Given the description of an element on the screen output the (x, y) to click on. 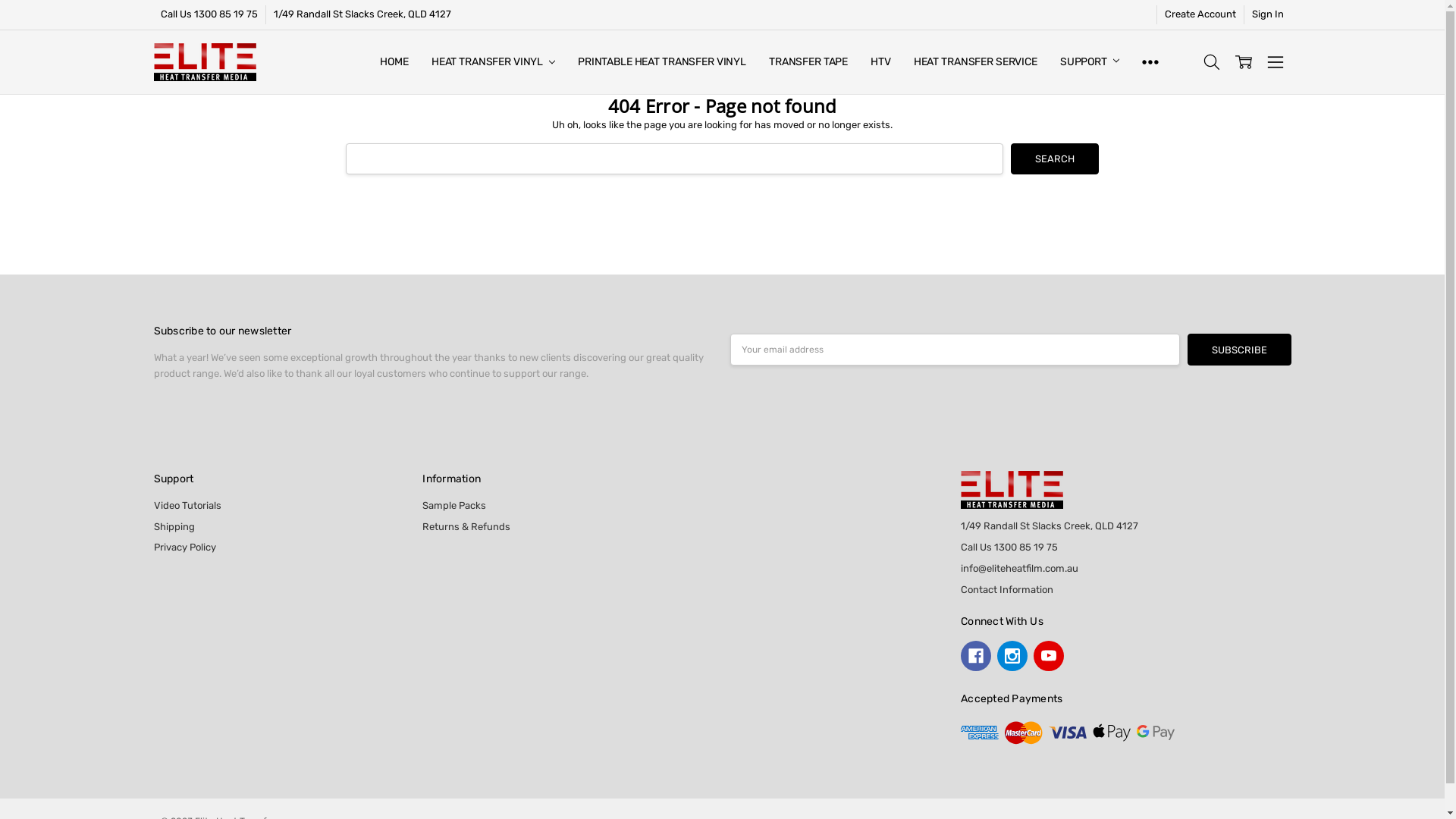
Call Us 1300 85 19 75 Element type: text (209, 14)
Sign In Element type: text (1267, 14)
info@eliteheatfilm.com.au Element type: text (1019, 568)
Contact Information Element type: text (1006, 589)
HOME Element type: text (393, 62)
Elite Heat Transfers Element type: hover (204, 62)
Show All Element type: hover (1150, 62)
Search Element type: text (1054, 159)
Returns & Refunds Element type: text (466, 526)
Create Account Element type: text (1200, 14)
Elite Heat Transfers Element type: hover (1011, 489)
HEAT TRANSFER VINYL Element type: text (493, 62)
Video Tutorials Element type: text (186, 505)
Subscribe Element type: text (1239, 349)
Shipping Element type: text (173, 526)
TRANSFER TAPE Element type: text (808, 62)
HTV Element type: text (880, 62)
SUPPORT Element type: text (1089, 62)
Privacy Policy Element type: text (184, 546)
HEAT TRANSFER SERVICE Element type: text (975, 62)
PRINTABLE HEAT TRANSFER VINYL Element type: text (661, 62)
1/49 Randall St Slacks Creek, QLD 4127 Element type: text (362, 14)
Call Us 1300 85 19 75 Element type: text (1008, 546)
Sample Packs Element type: text (454, 505)
